Given the description of an element on the screen output the (x, y) to click on. 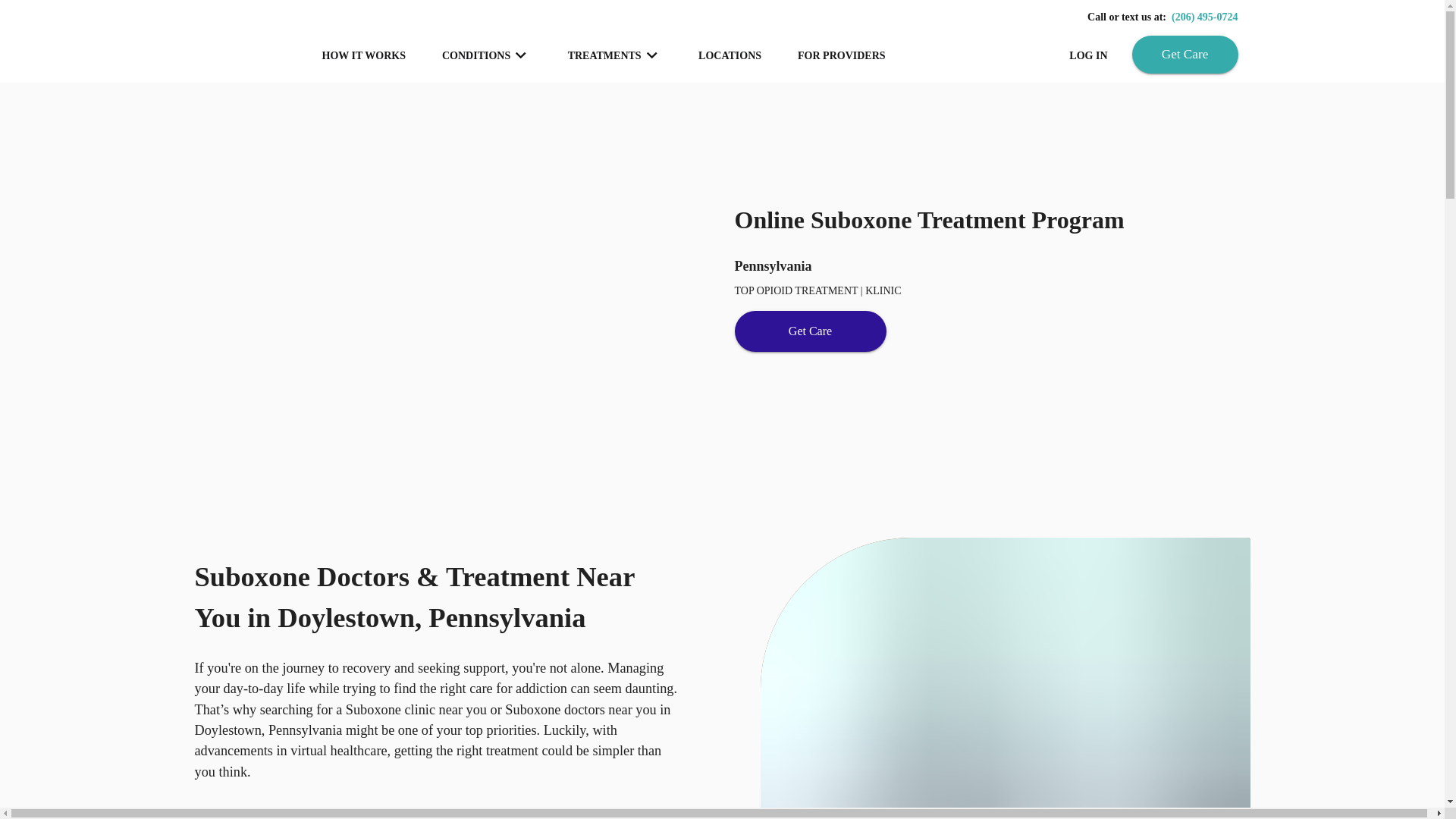
LOG IN (1088, 55)
FOR PROVIDERS (841, 55)
Get Care (809, 331)
Get Care (1184, 54)
LOCATIONS (728, 55)
HOW IT WORKS (362, 55)
